Given the description of an element on the screen output the (x, y) to click on. 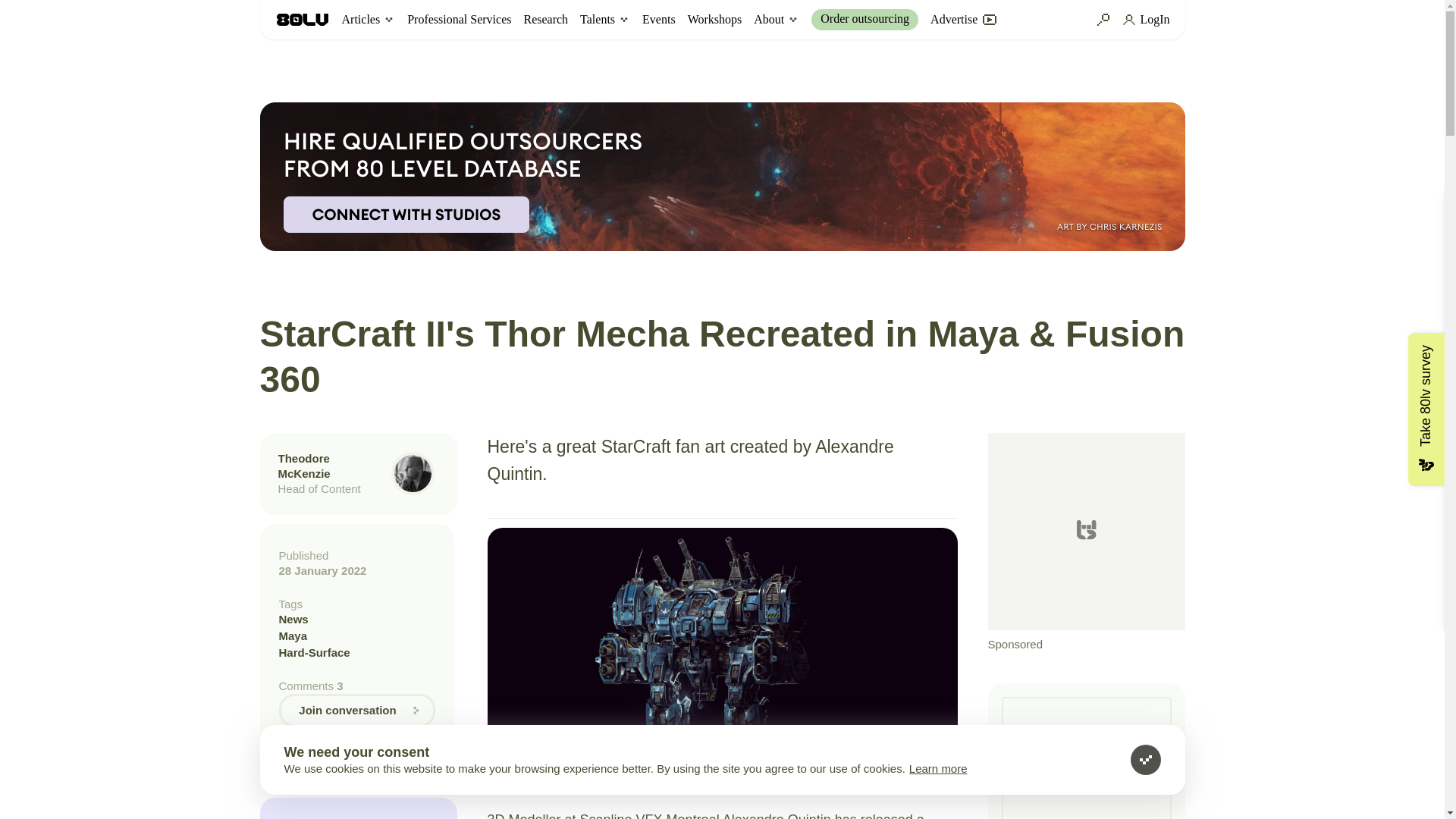
Join conversation (357, 710)
Twitter (313, 752)
Sponsored (1086, 542)
Theodore McKenzie (304, 465)
News (357, 619)
LinkedIn (341, 752)
Hard-Surface (357, 652)
Flipboard (368, 752)
Facebook (286, 752)
Order outsourcing (864, 19)
